Given the description of an element on the screen output the (x, y) to click on. 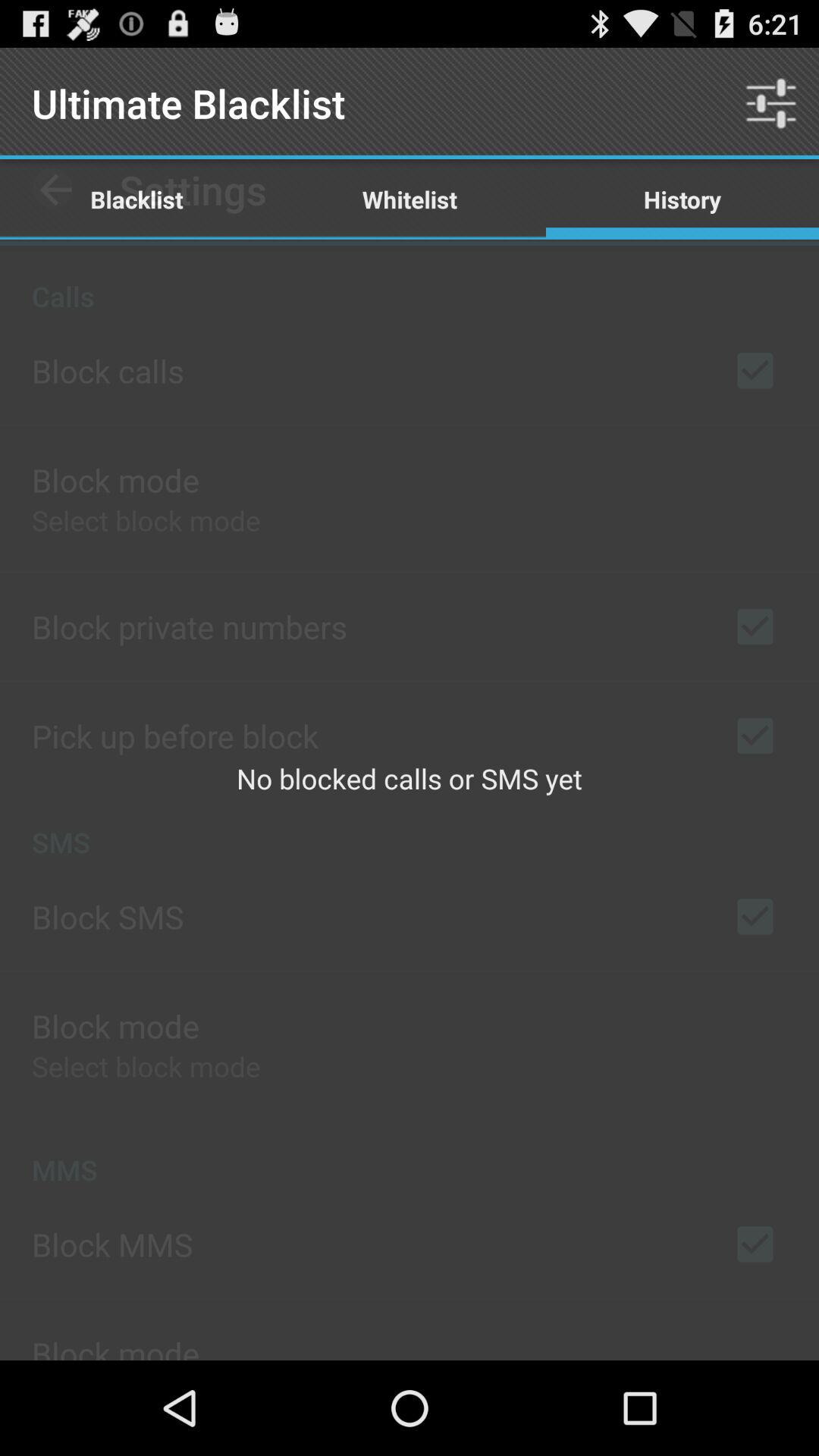
launch item to the right of whitelist icon (682, 199)
